Given the description of an element on the screen output the (x, y) to click on. 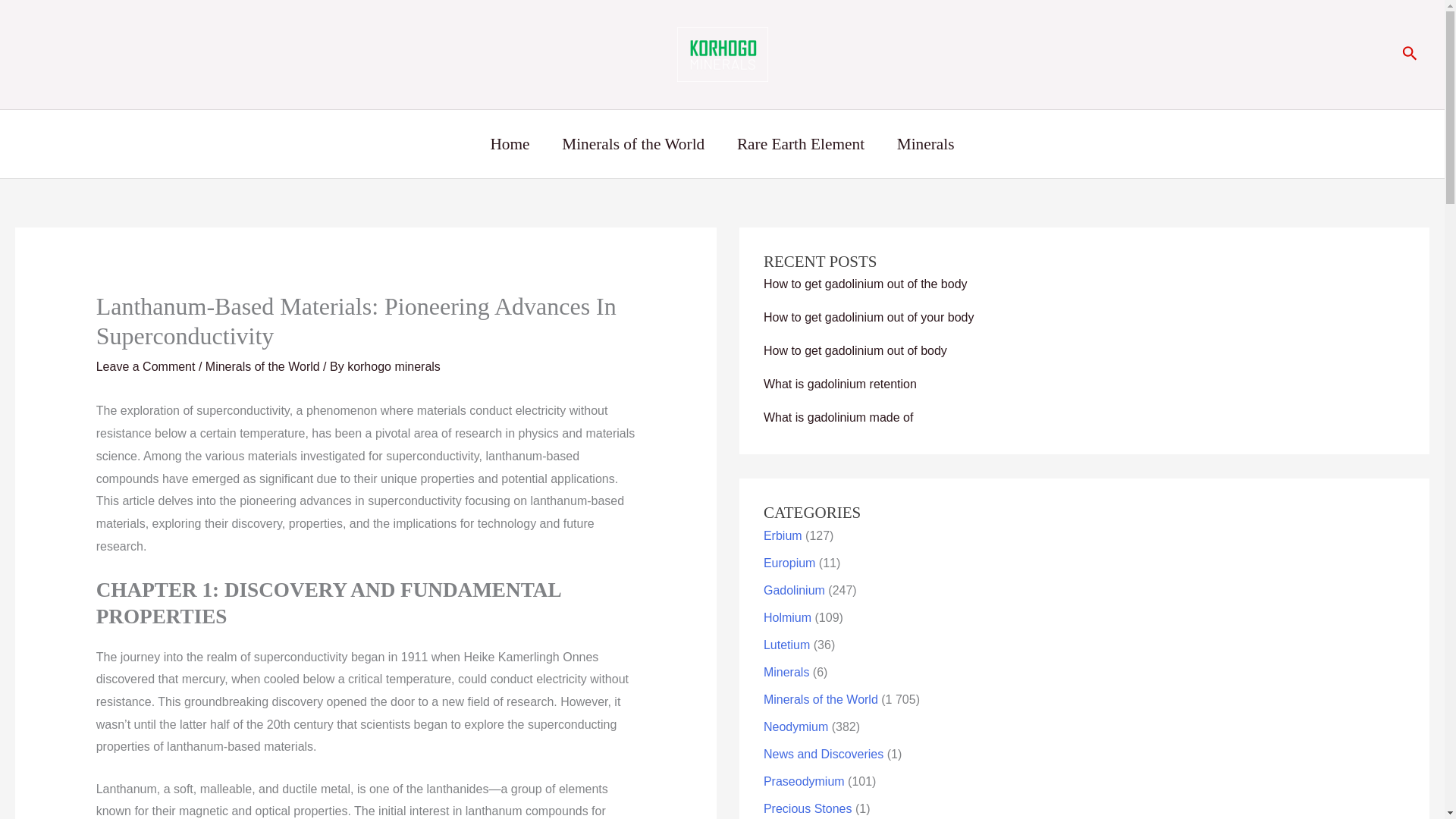
Minerals (924, 143)
How to get gadolinium out of your body (868, 317)
Minerals (785, 671)
What is gadolinium retention (839, 383)
View all posts by korhogo minerals (394, 366)
Gadolinium (793, 590)
Holmium (786, 617)
News and Discoveries (822, 753)
Erbium (782, 535)
Lutetium (785, 644)
